Given the description of an element on the screen output the (x, y) to click on. 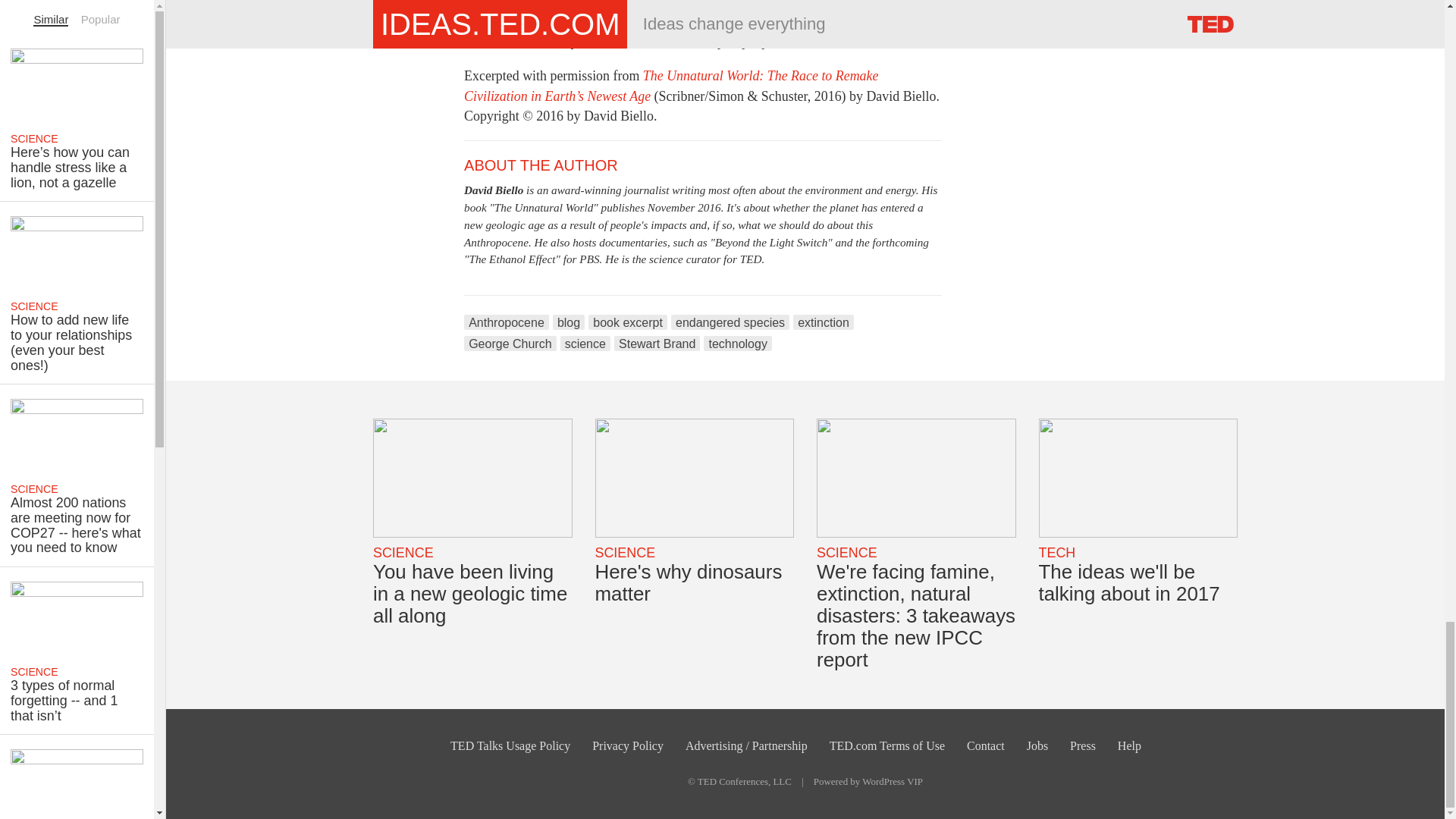
blog (569, 322)
book excerpt (627, 322)
George Church (510, 343)
David Biello (493, 189)
technology (737, 343)
science (585, 343)
Anthropocene (506, 322)
extinction (823, 322)
endangered species (730, 322)
Stewart Brand (657, 343)
